Given the description of an element on the screen output the (x, y) to click on. 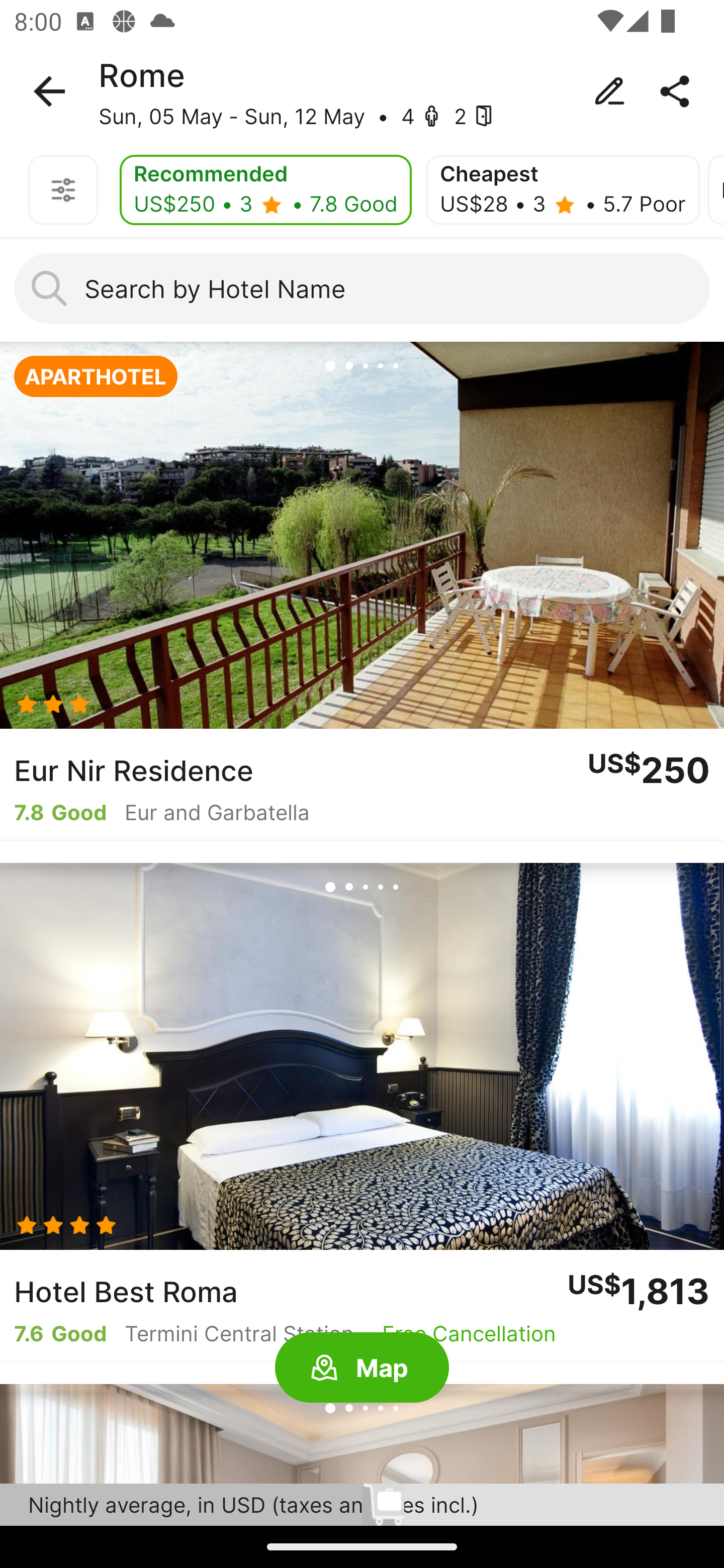
Rome Sun, 05 May - Sun, 12 May  •  4 -  2 - (361, 91)
Recommended  US$250  • 3 - • 7.8 Good (265, 190)
Cheapest US$28  • 3 - • 5.7 Poor (562, 190)
Search by Hotel Name  (361, 288)
Map  (361, 1367)
